Given the description of an element on the screen output the (x, y) to click on. 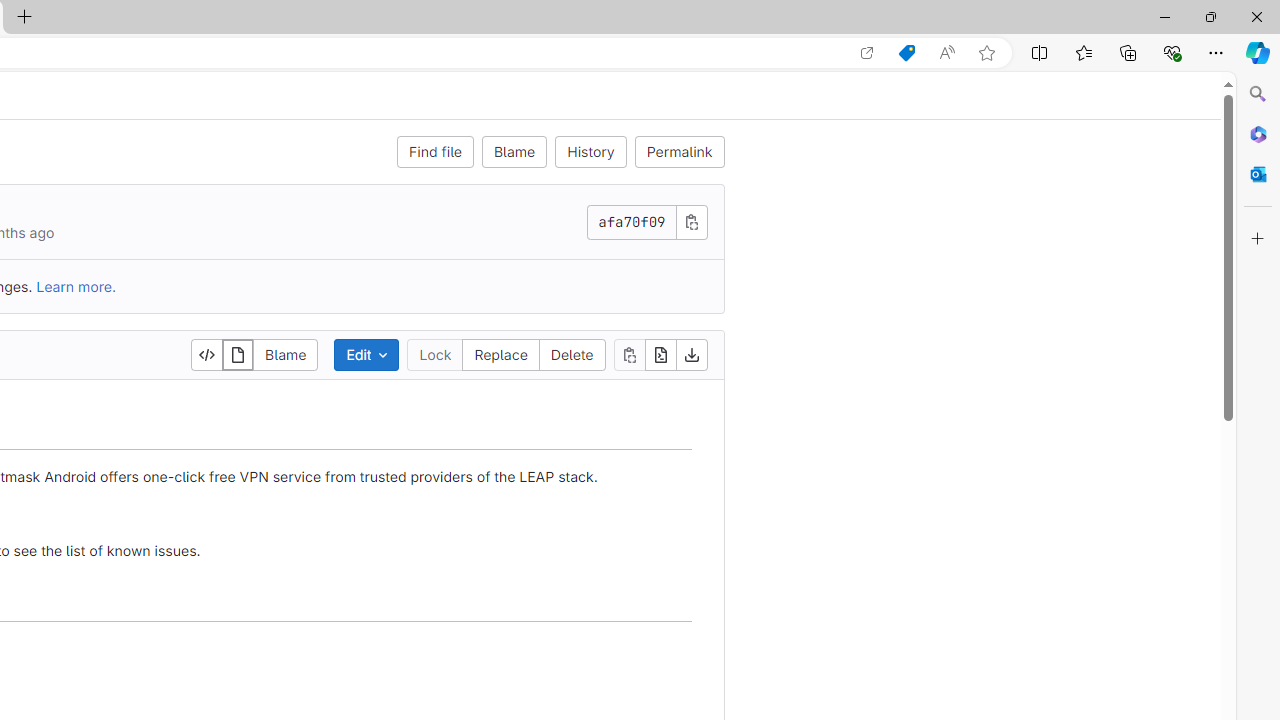
Download (690, 354)
Blame (514, 151)
Edit (366, 354)
Find file (434, 151)
Open in app (867, 53)
Class: s16 gl-icon gl-button-icon  (691, 221)
Copy file contents (629, 354)
Lock (435, 354)
Copy commit SHA (690, 221)
